Given the description of an element on the screen output the (x, y) to click on. 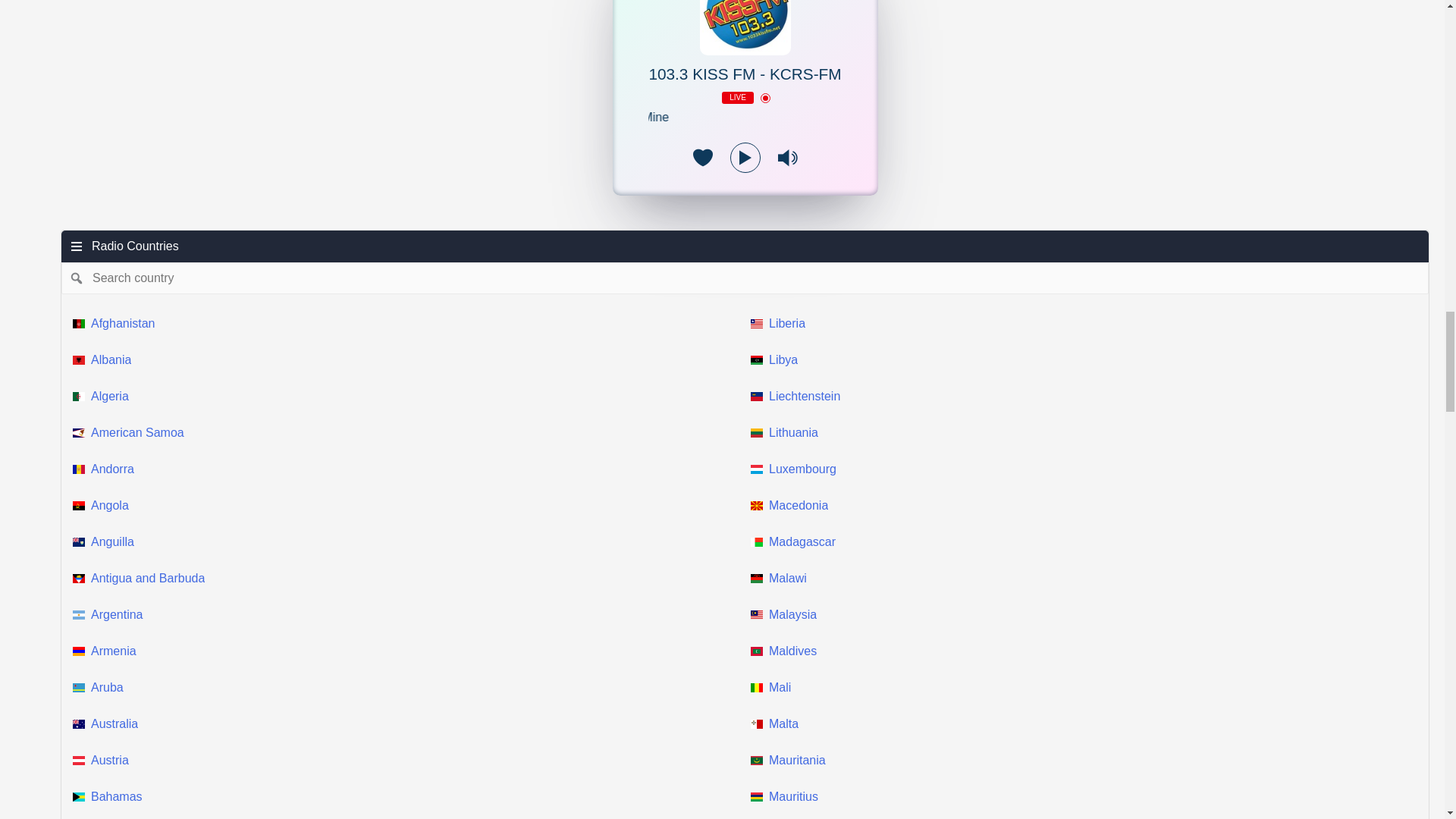
Angola (405, 505)
Antigua and Barbuda (405, 578)
Anguilla (405, 542)
Aruba (405, 687)
Albania (405, 360)
Andorra (405, 469)
American Samoa (405, 432)
Argentina (405, 615)
Algeria (405, 396)
Australia (405, 723)
Armenia (405, 651)
Afghanistan (405, 323)
